Given the description of an element on the screen output the (x, y) to click on. 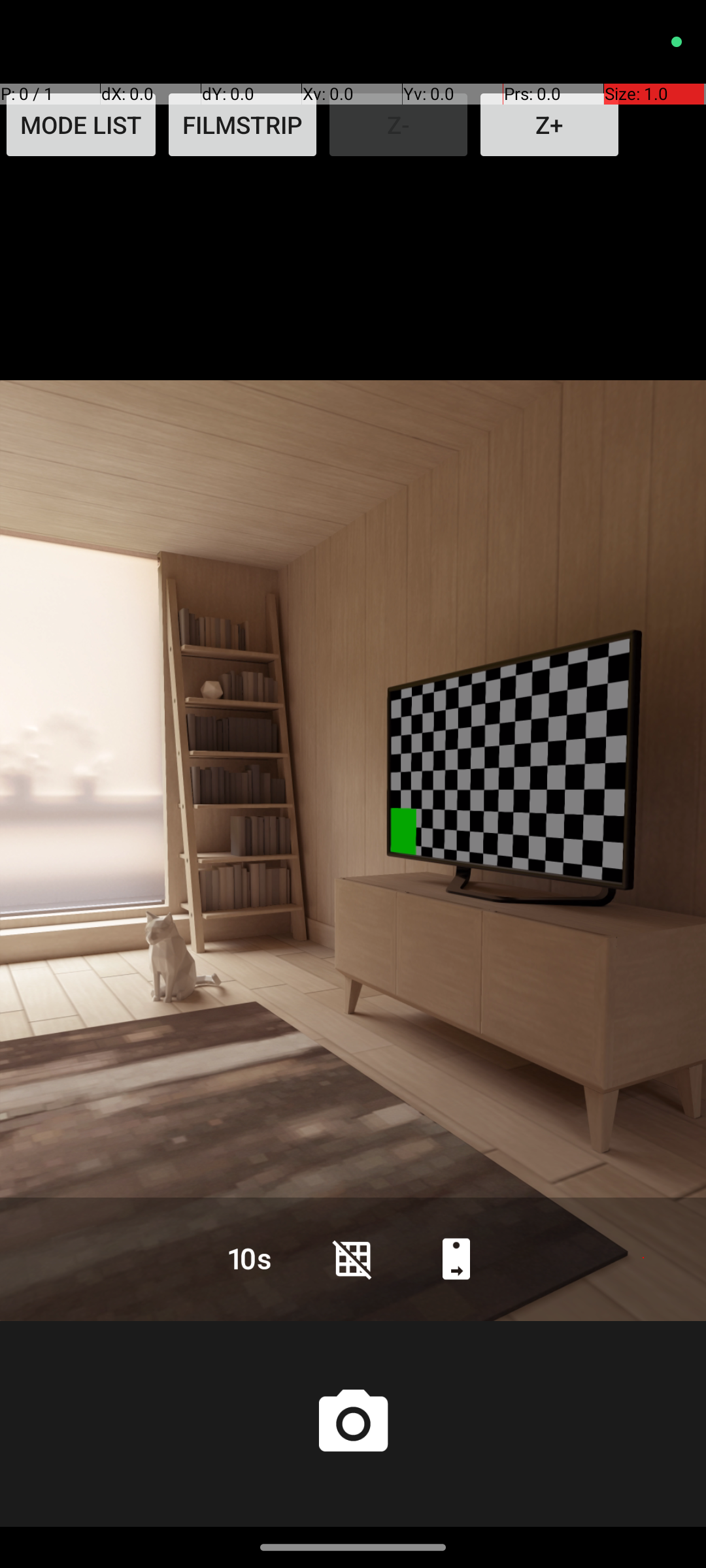
Countdown timer duration is set to 10 seconds Element type: android.widget.ImageButton (249, 1258)
